Given the description of an element on the screen output the (x, y) to click on. 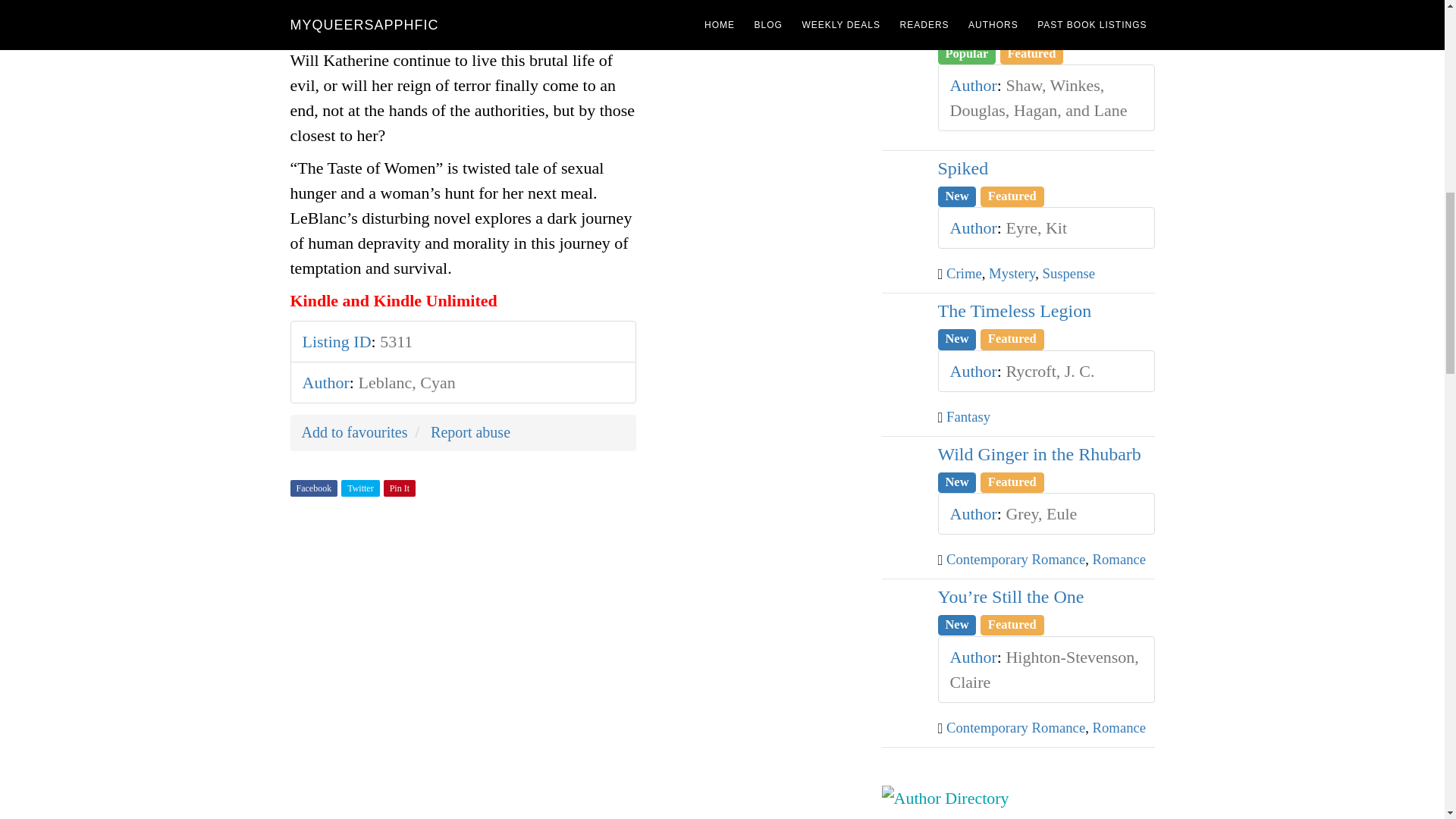
Report abuse (470, 432)
Add to favourites (354, 432)
Facebook (313, 487)
Pin It (399, 487)
Twitter (359, 487)
Kindle and Kindle Unlimited (392, 300)
